Given the description of an element on the screen output the (x, y) to click on. 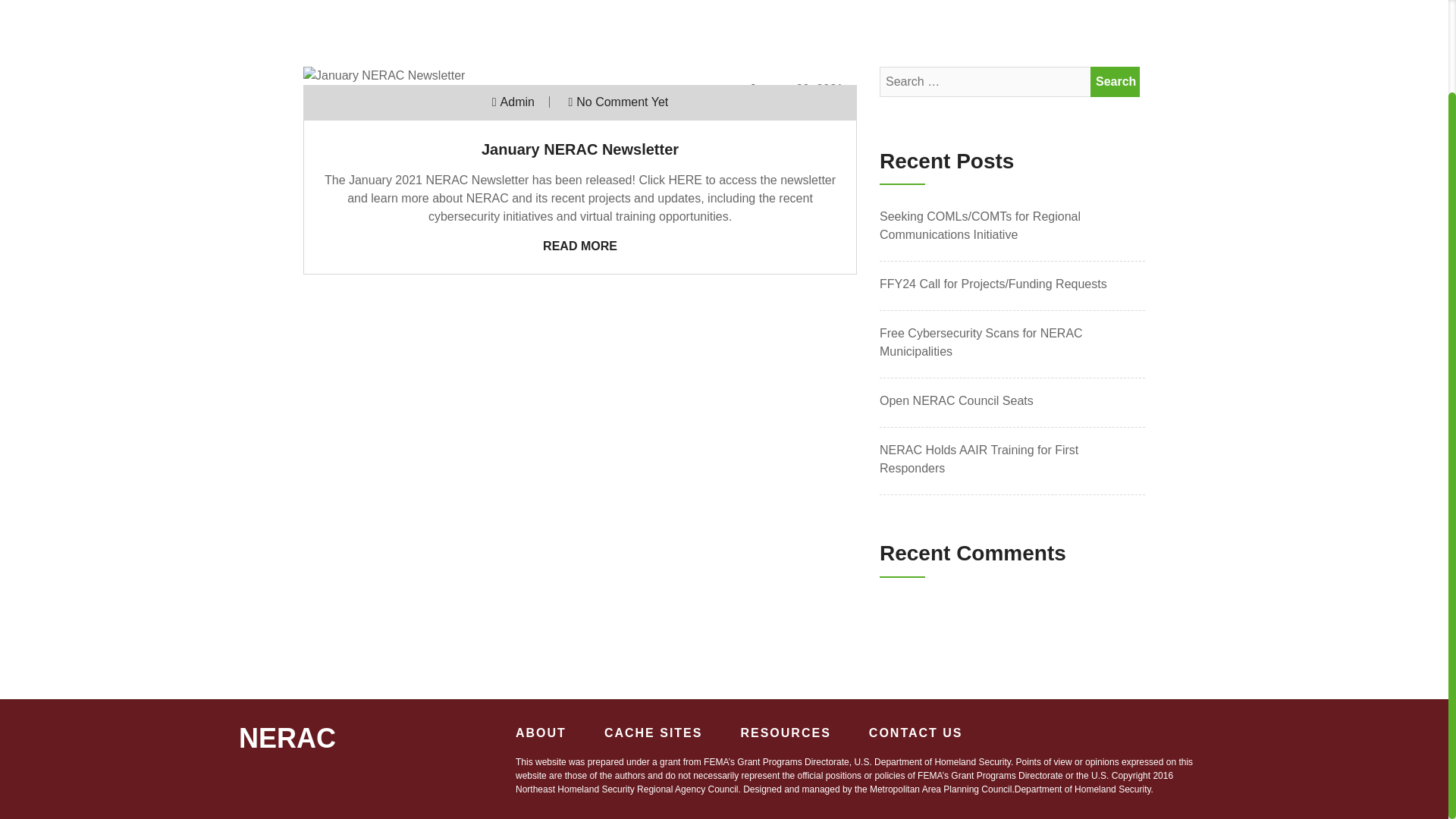
Free Cybersecurity Scans for NERAC Municipalities (1011, 342)
Admin (517, 101)
No Comment Yet (622, 101)
January NERAC Newsletter (579, 149)
Search (1115, 81)
Open NERAC Council Seats (1011, 401)
Search (1115, 81)
READ MORE (580, 245)
Search (1115, 81)
January 29, 2021 (796, 88)
